Given the description of an element on the screen output the (x, y) to click on. 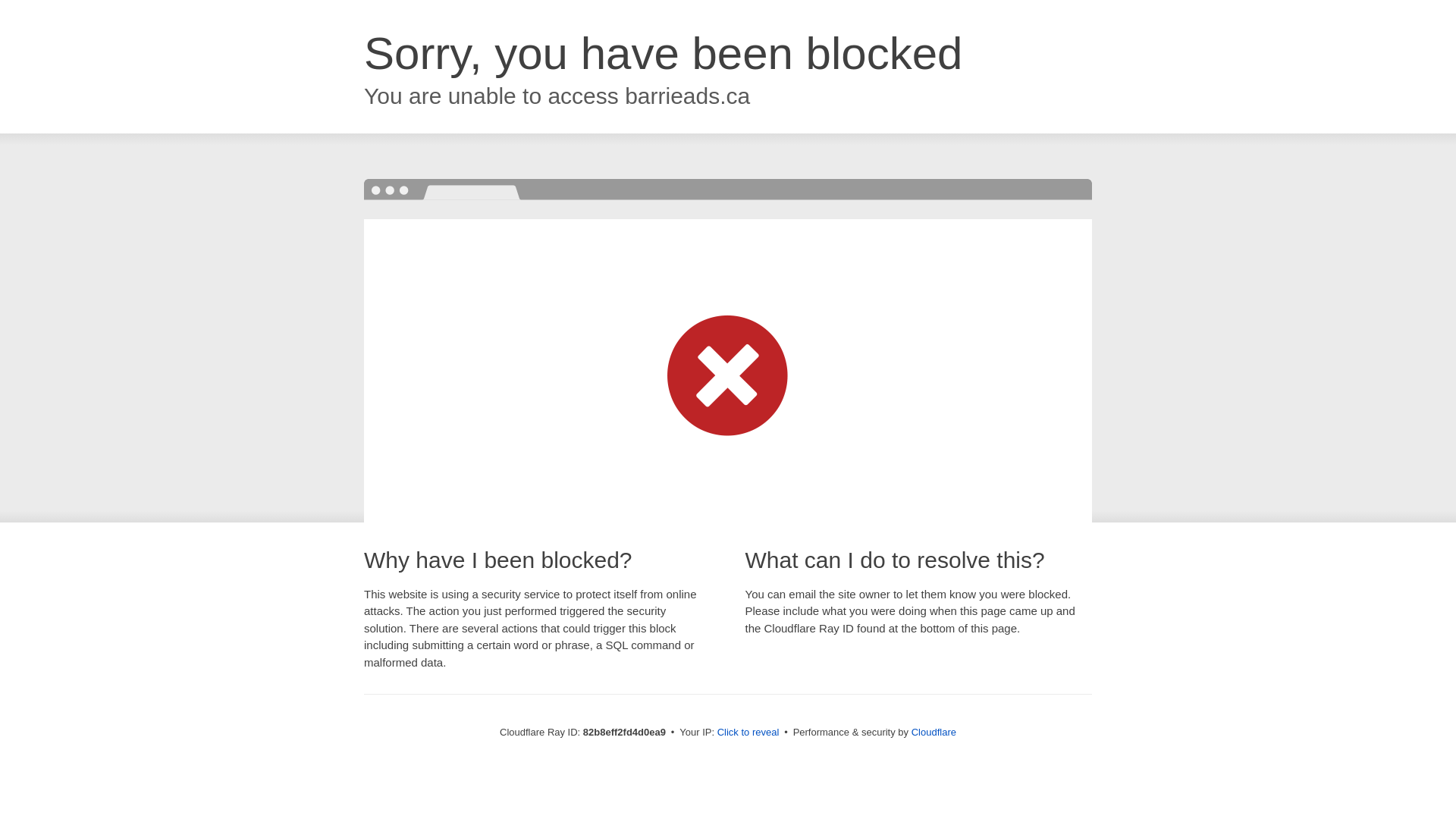
Click to reveal Element type: text (748, 732)
Cloudflare Element type: text (933, 731)
